Given the description of an element on the screen output the (x, y) to click on. 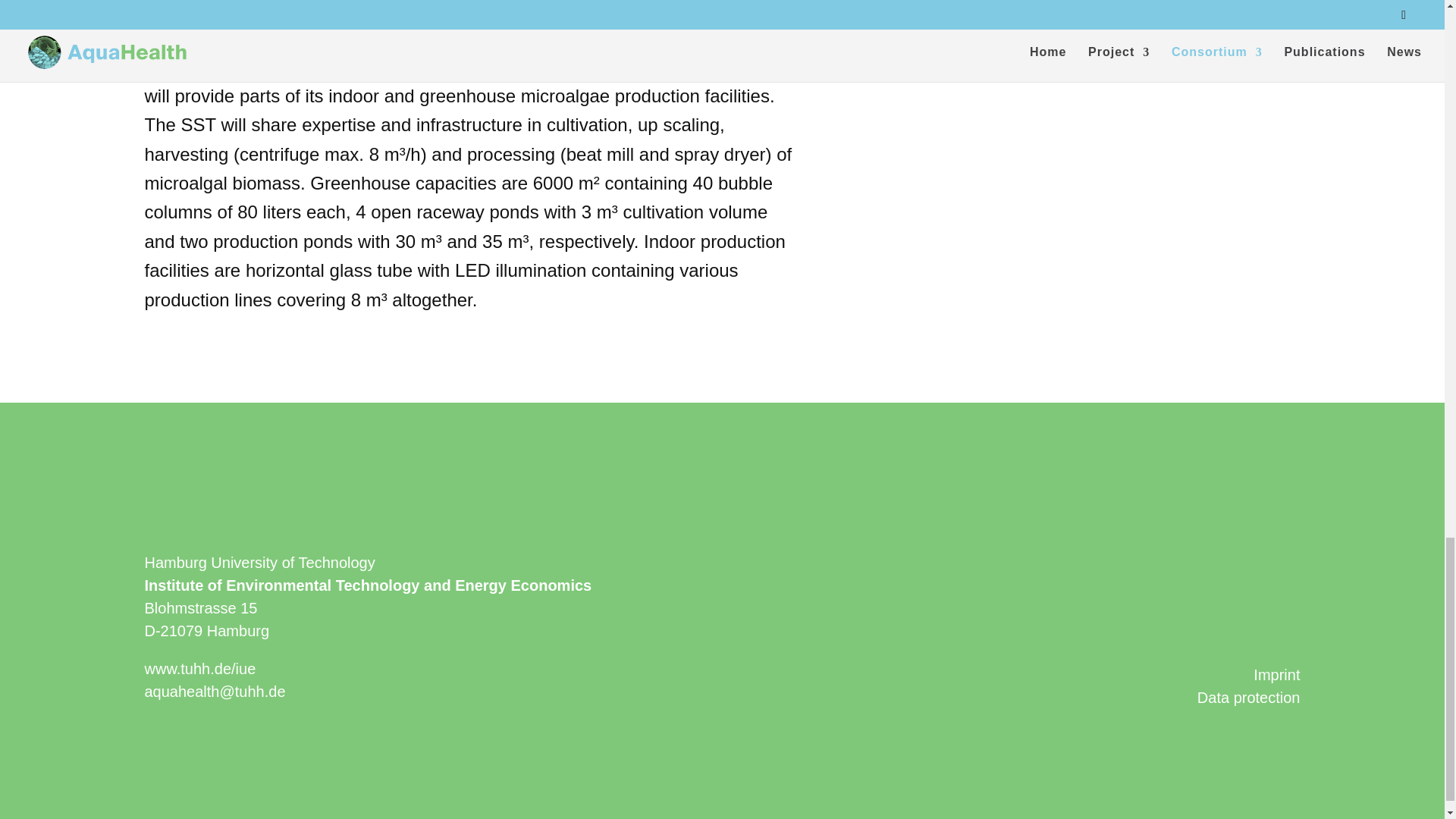
Imprint (1276, 674)
Data protection (1248, 697)
